Given the description of an element on the screen output the (x, y) to click on. 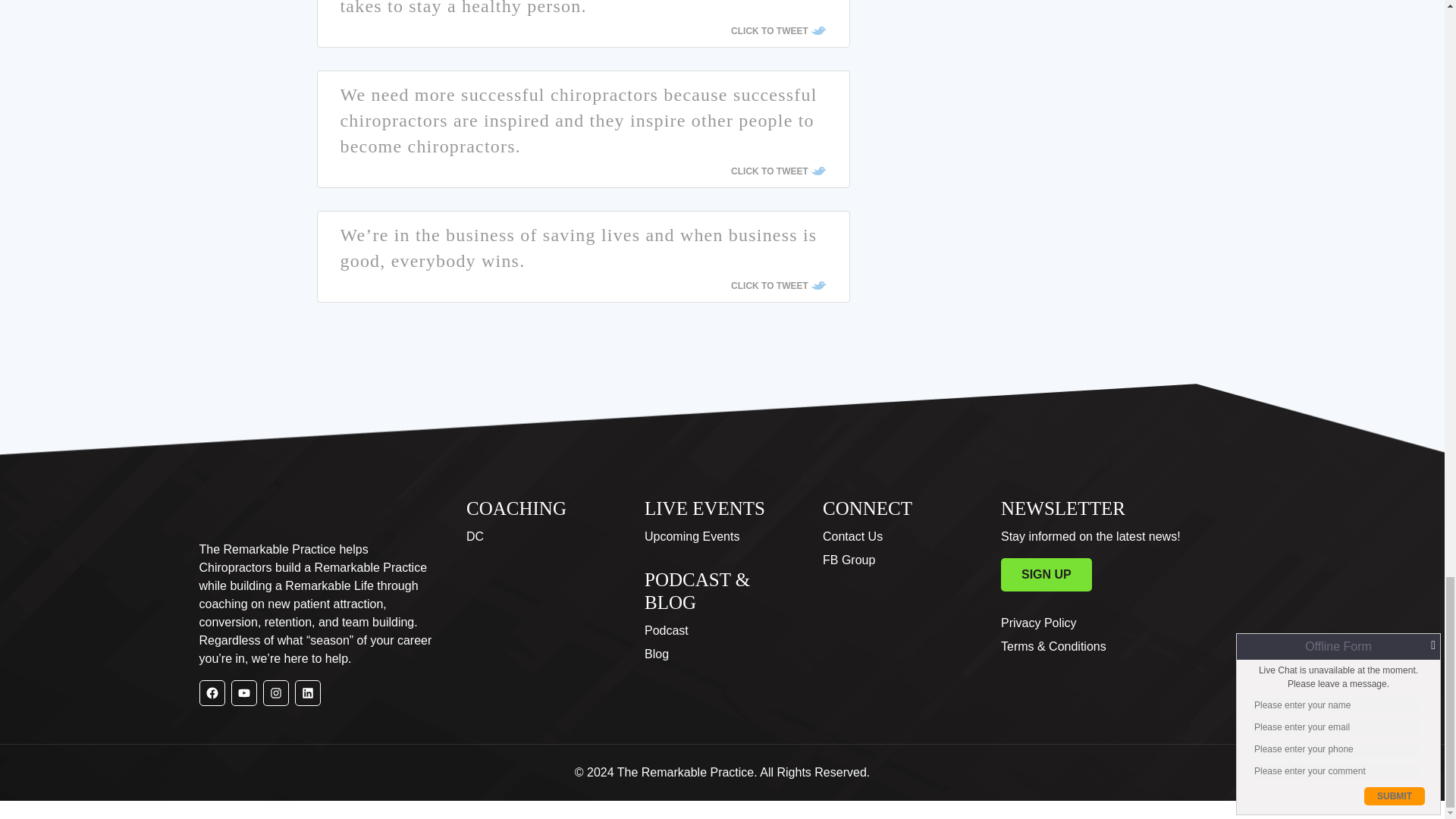
CLICK TO TWEET (778, 171)
CLICK TO TWEET (778, 31)
